Given the description of an element on the screen output the (x, y) to click on. 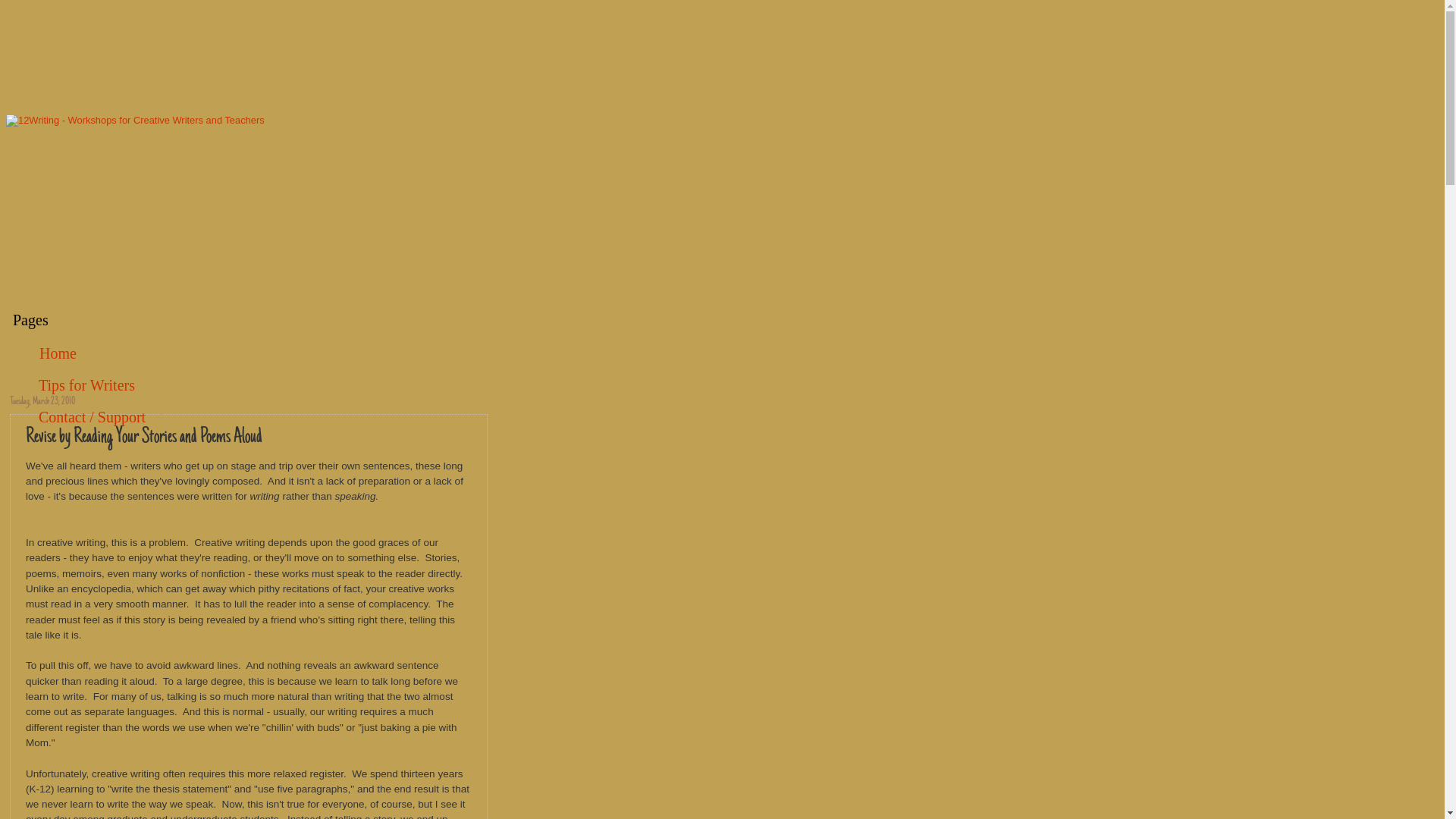
Home Element type: text (57, 353)
Tips for Writers Element type: text (86, 385)
Contact / Support Element type: text (92, 416)
